Given the description of an element on the screen output the (x, y) to click on. 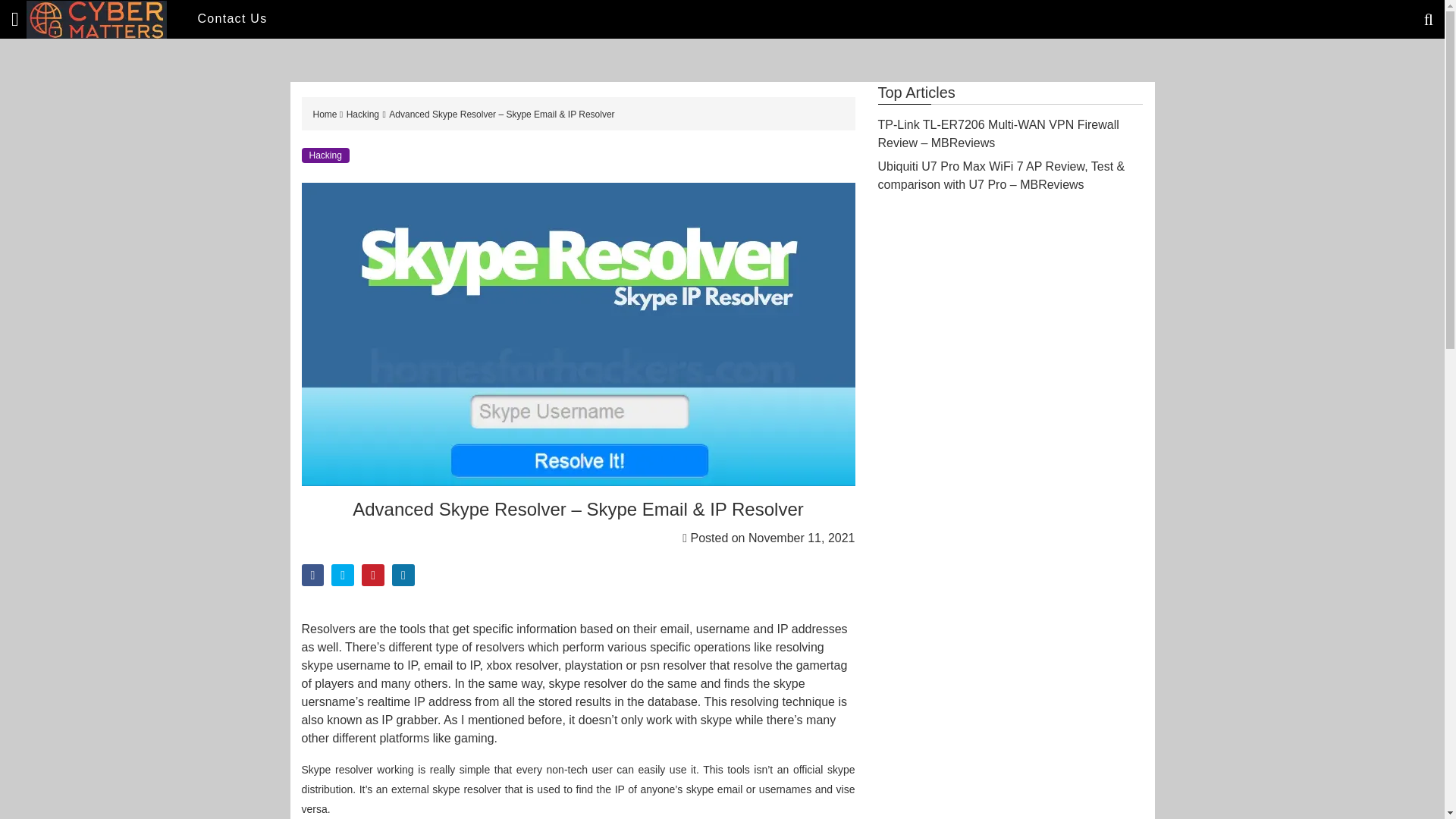
November 11, 2021 (802, 537)
xbox resolver (521, 665)
Hacking (362, 113)
Contact Us (231, 18)
Home (326, 113)
Hacking (325, 155)
psn resolver (673, 665)
